Given the description of an element on the screen output the (x, y) to click on. 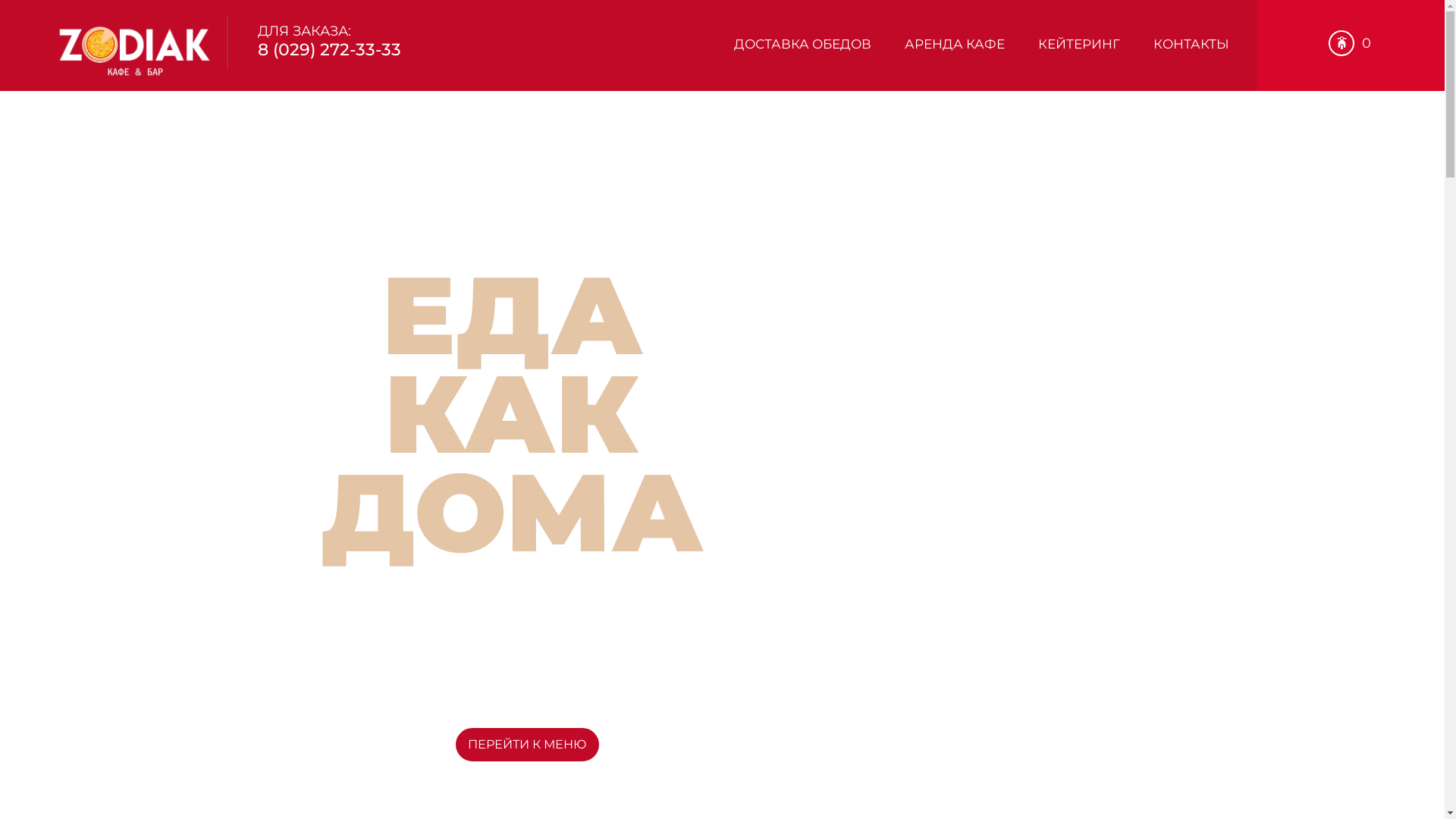
8 (029) 272-33-33 Element type: text (526, 688)
0 Element type: text (1349, 43)
8 (029) 272-33-33 Element type: text (329, 49)
